Given the description of an element on the screen output the (x, y) to click on. 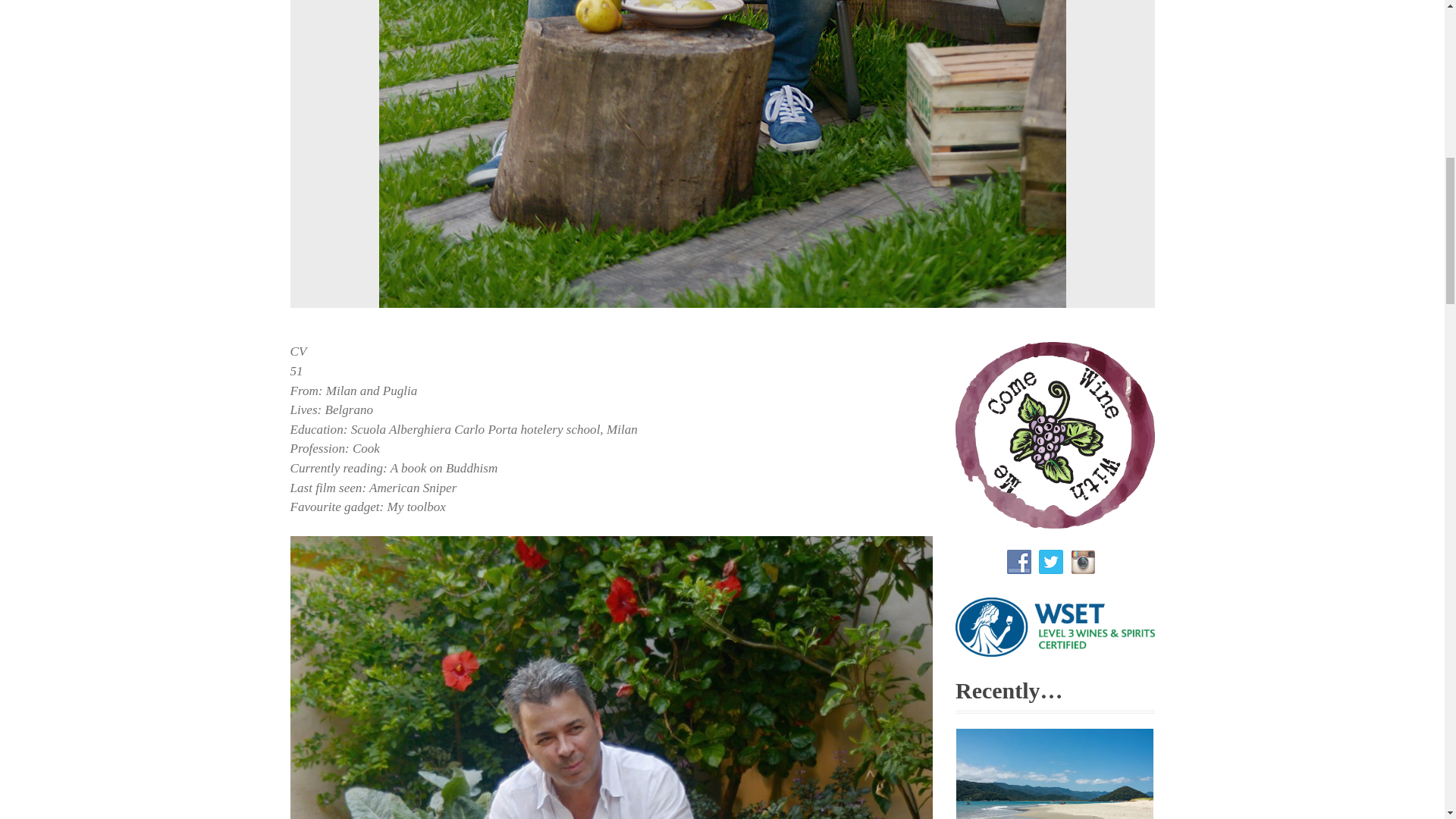
Follow Me on Twitter (1050, 561)
Follow Me on Instagram (1082, 561)
Follow Me on Facebook (1018, 561)
The 24 most underrated travel destinations in the world 2024 (1054, 773)
